Given the description of an element on the screen output the (x, y) to click on. 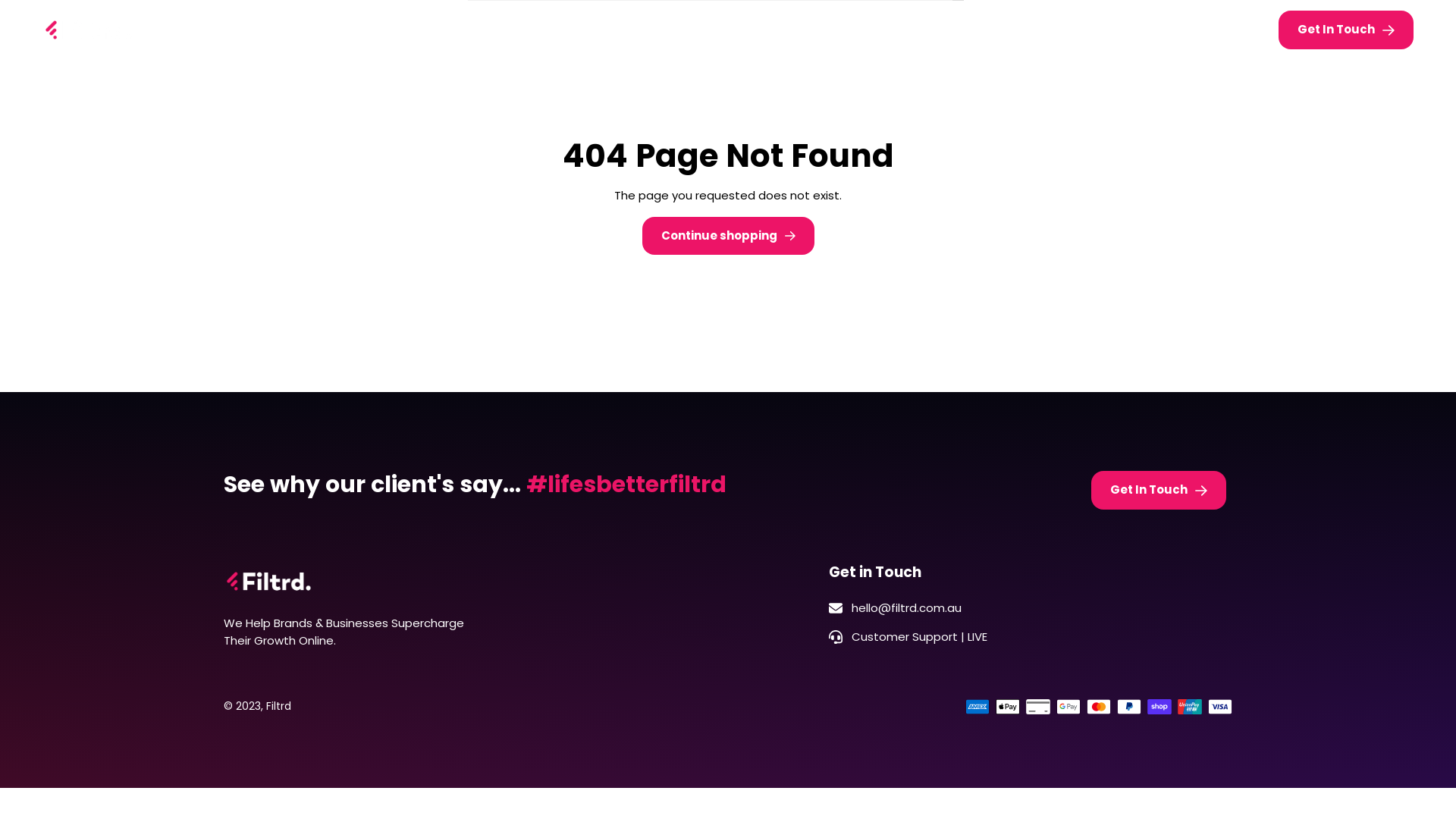
Get In Touch Element type: text (1345, 29)
Continue shopping Element type: text (727, 235)
Get In Touch Element type: text (1158, 489)
Filtrd Element type: text (278, 705)
